Given the description of an element on the screen output the (x, y) to click on. 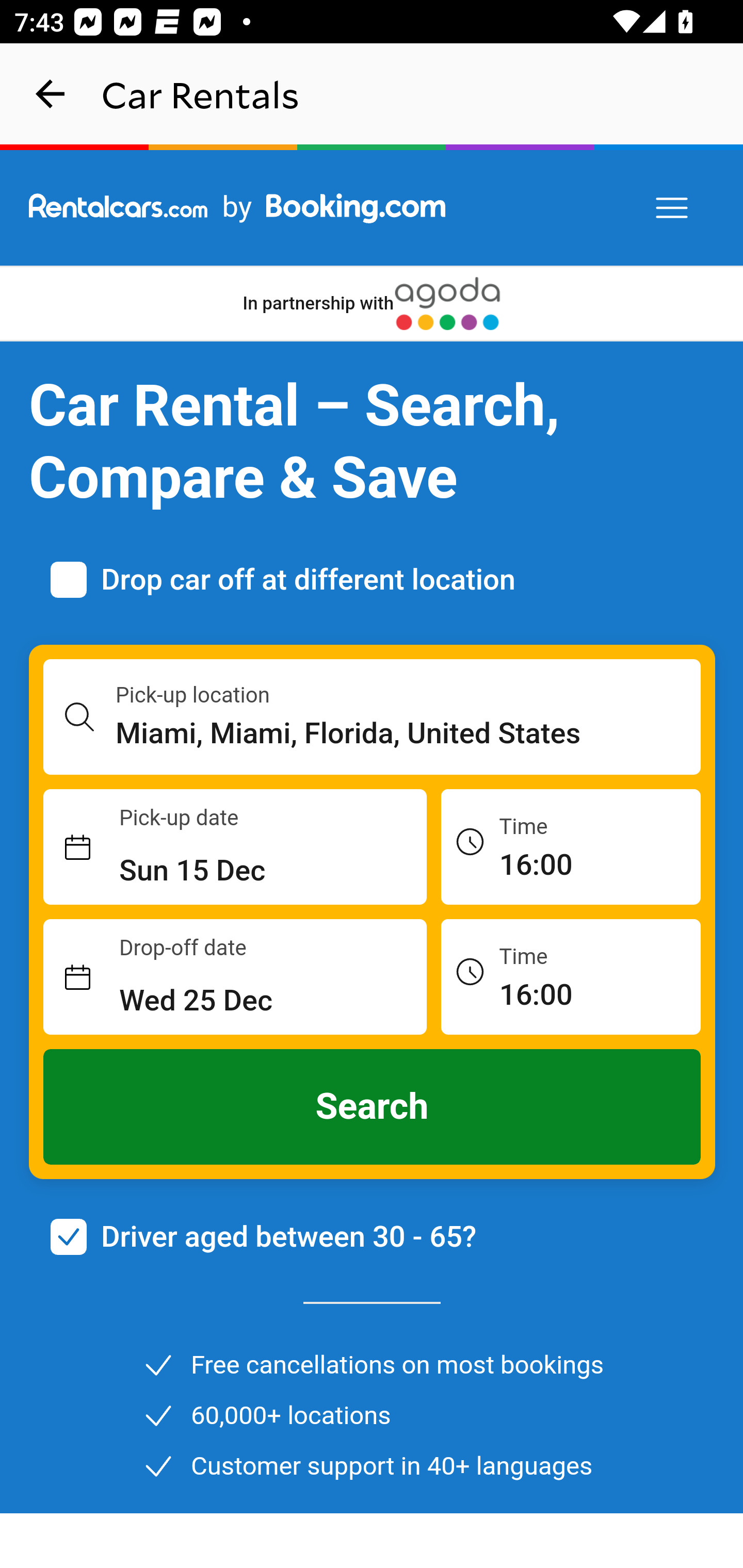
navigation_button (50, 93)
Menu (672, 208)
Miami, Miami, Florida, United States (408, 733)
Pick-up date Sun 15 Dec (235, 847)
16:00 (571, 845)
Drop-off date Wed 25 Dec (235, 977)
16:00 (571, 975)
Search (372, 1106)
